Given the description of an element on the screen output the (x, y) to click on. 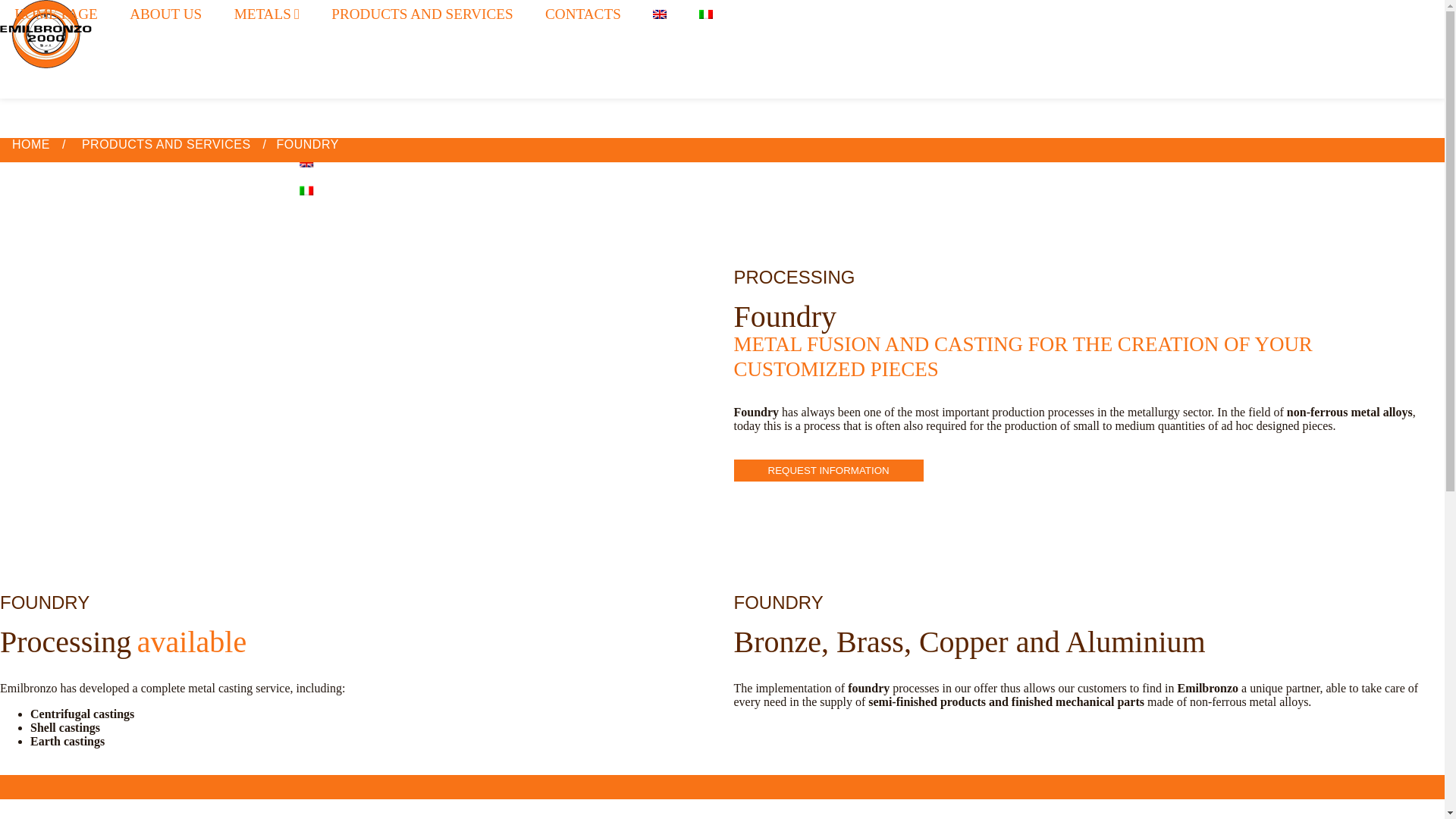
PRODUCTS AND SERVICES (166, 144)
Products and Services (363, 105)
PRODUCTS AND SERVICES (422, 14)
HOME PAGE (56, 14)
Request information (828, 470)
Contacts (362, 133)
HOME (30, 144)
Emilbronzo 2000 (45, 49)
REQUEST INFORMATION (828, 470)
Current Language: English (342, 19)
